Given the description of an element on the screen output the (x, y) to click on. 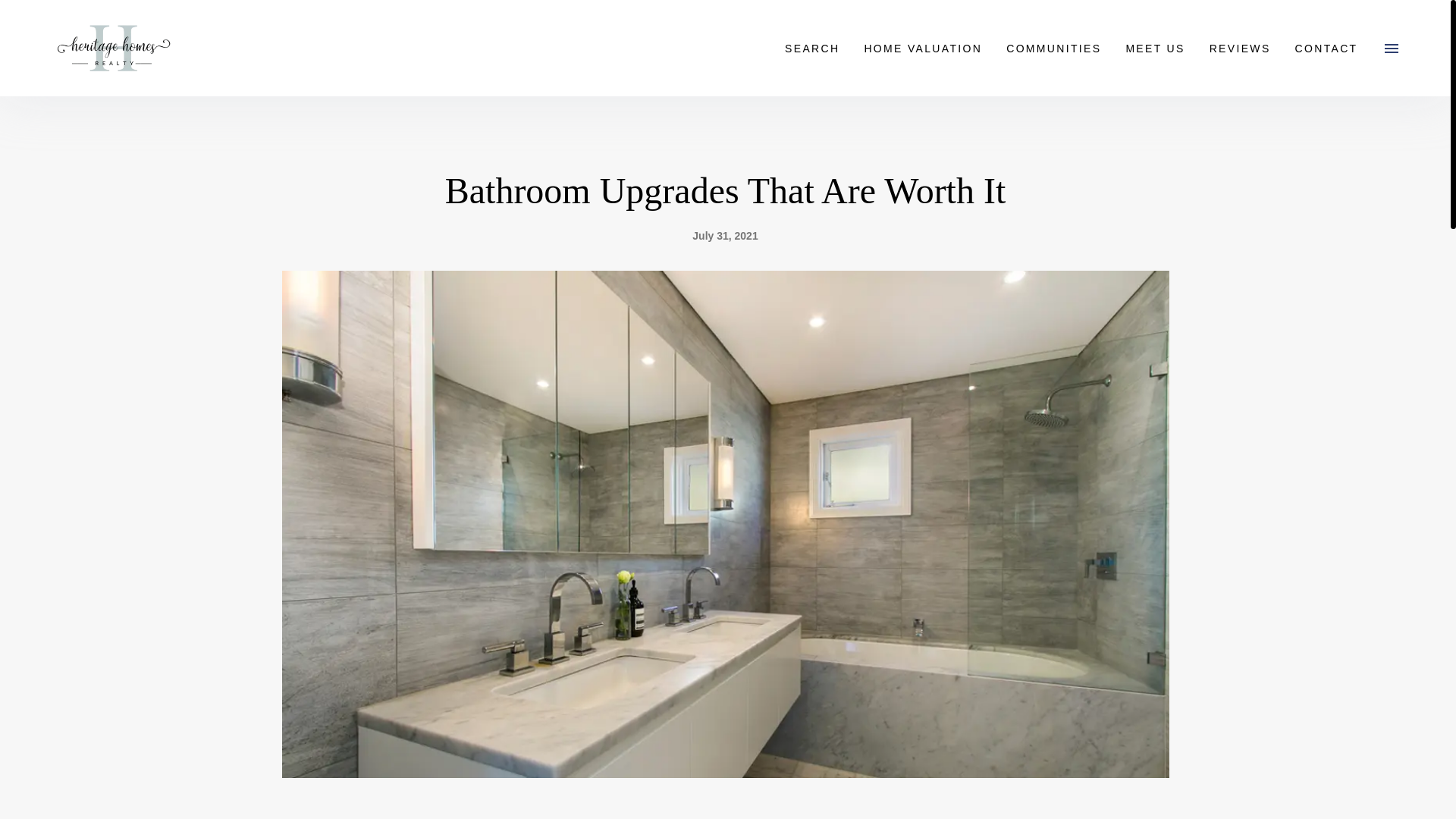
MEET US (1154, 47)
REVIEWS (1239, 47)
COMMUNITIES (1053, 47)
HOME VALUATION (922, 47)
CONTACT (1326, 47)
SEARCH (812, 47)
